Given the description of an element on the screen output the (x, y) to click on. 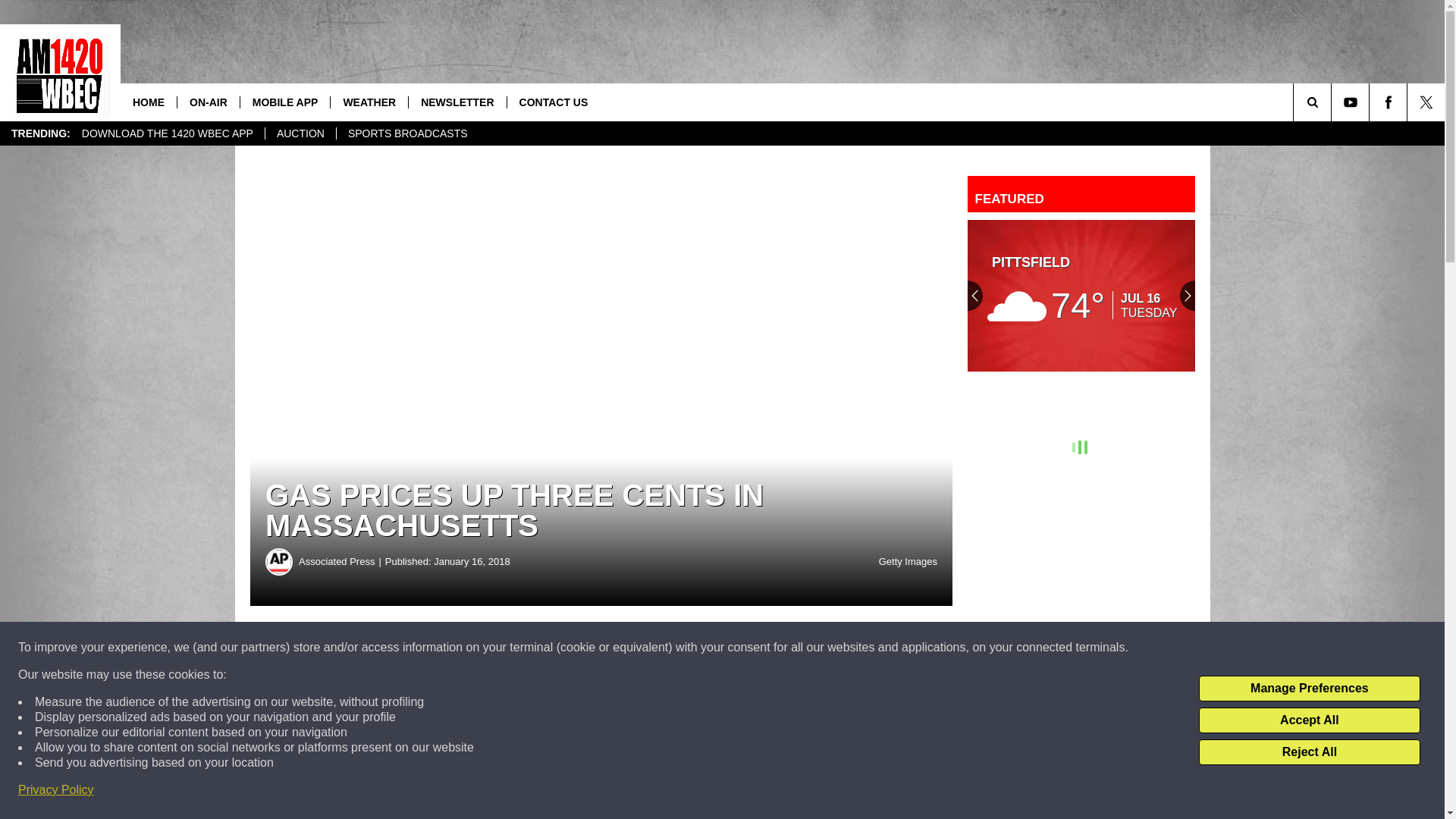
WEATHER (368, 102)
Manage Preferences (1309, 688)
AUCTION (300, 133)
CONTACT US (552, 102)
SEARCH (1333, 102)
Privacy Policy (55, 789)
Associated Press (278, 561)
NEWSLETTER (456, 102)
DOWNLOAD THE 1420 WBEC APP (166, 133)
MOBILE APP (285, 102)
ON-AIR (208, 102)
SPORTS BROADCASTS (407, 133)
SEARCH (1333, 102)
SEARCH (1333, 102)
Reject All (1309, 751)
